Given the description of an element on the screen output the (x, y) to click on. 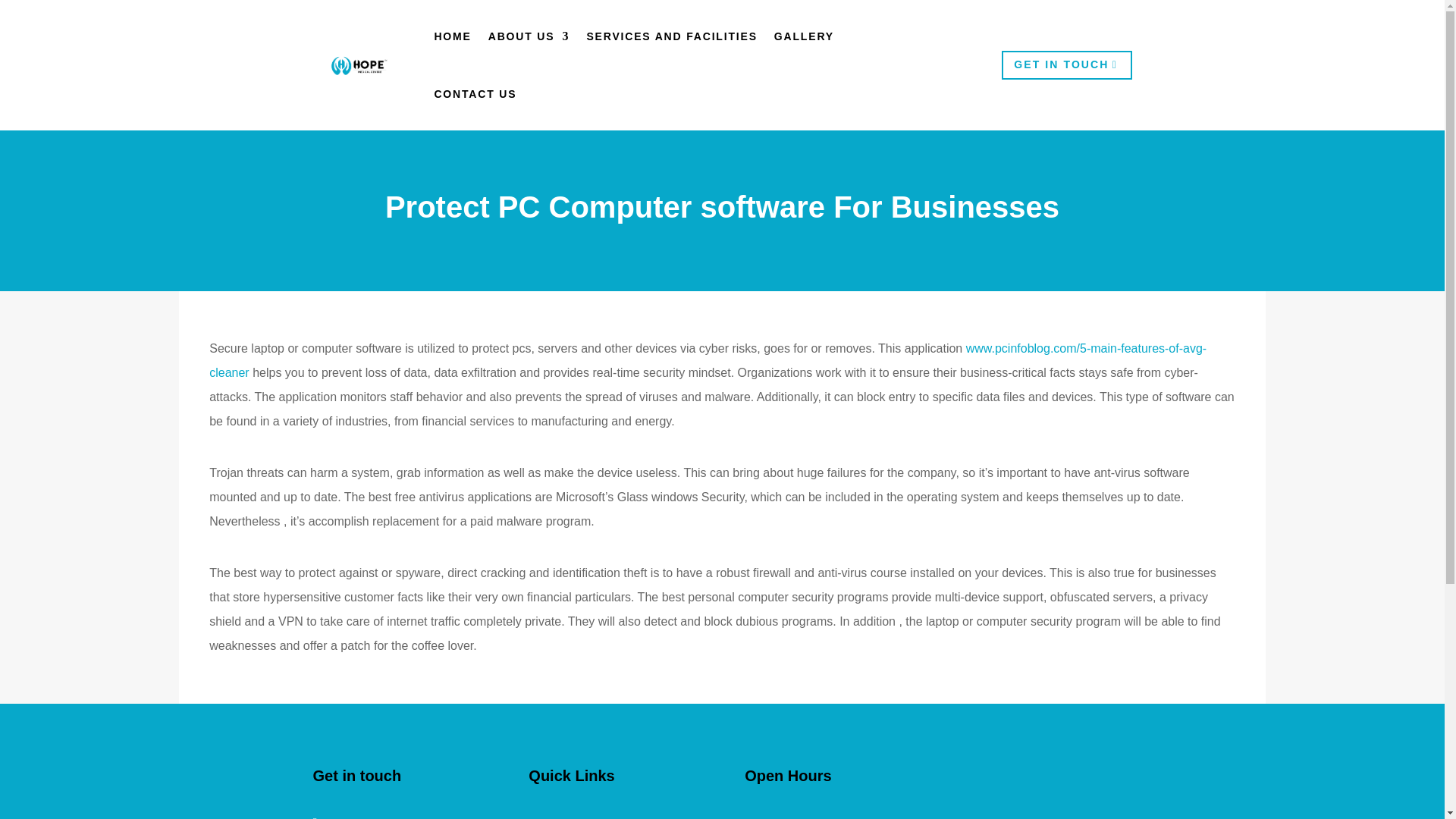
GET IN TOUCH (1066, 64)
ABOUT US (528, 36)
CONTACT US (474, 93)
SERVICES AND FACILITIES (671, 36)
GALLERY (804, 36)
